Given the description of an element on the screen output the (x, y) to click on. 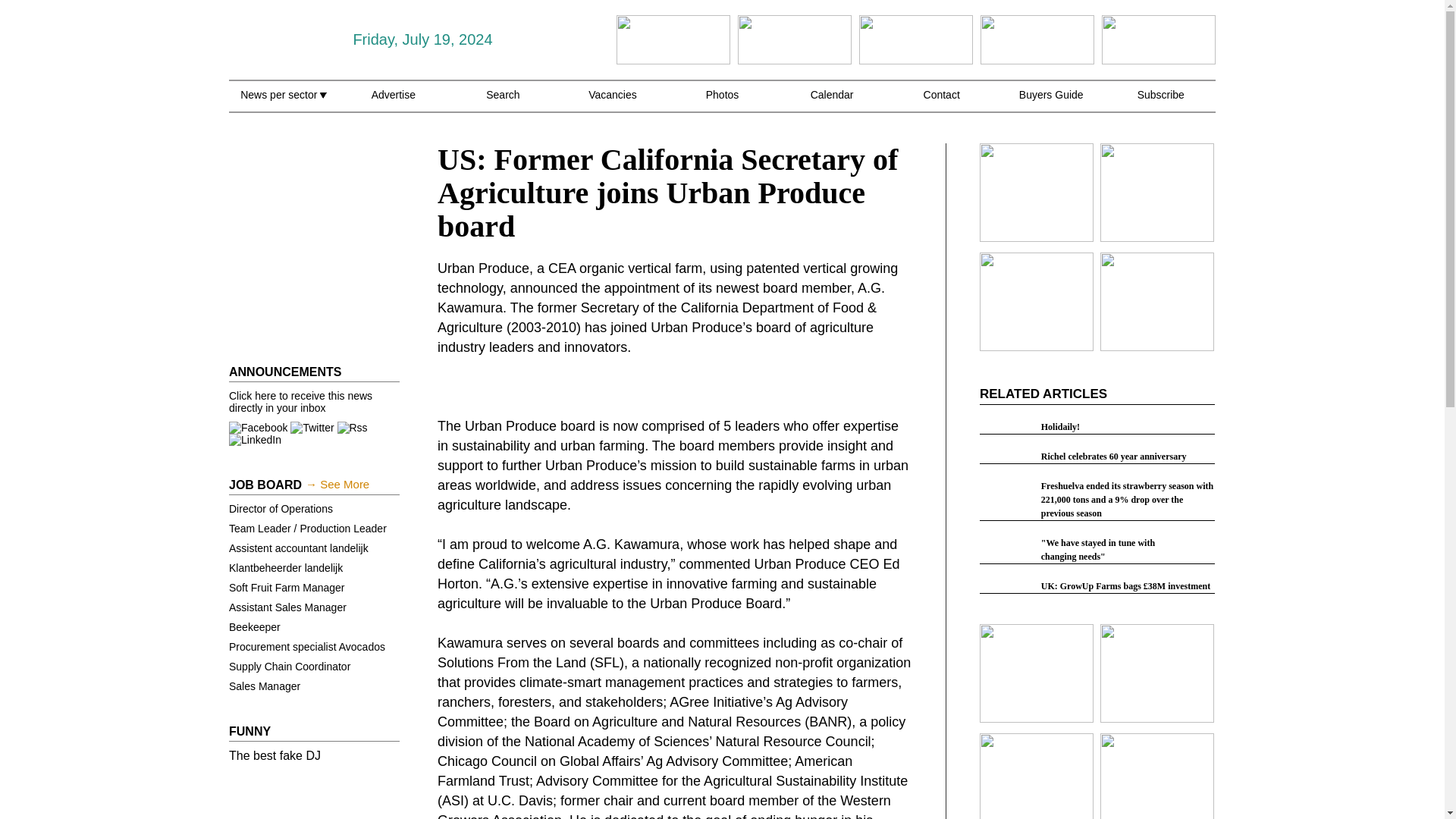
News per sector (283, 103)
